Given the description of an element on the screen output the (x, y) to click on. 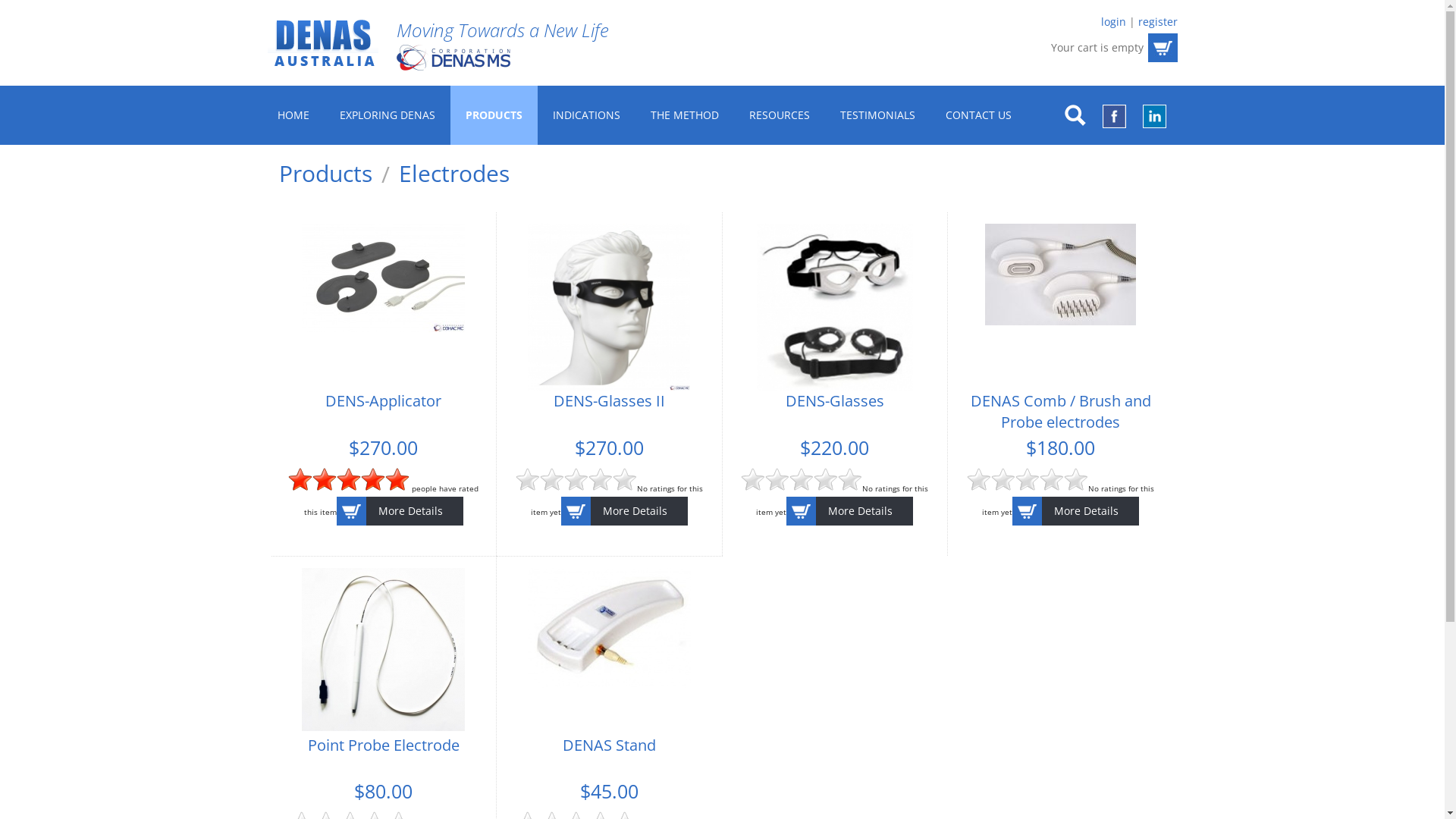
INDICATIONS Element type: text (585, 114)
RESOURCES Element type: text (779, 114)
register Element type: text (1156, 21)
DENS-Glasses Element type: text (834, 398)
DENS-Applicator Element type: text (383, 398)
THE METHOD Element type: text (684, 114)
More Details Element type: text (1075, 510)
DENAS Comb / Brush and Probe electrodes Element type: hover (1060, 274)
DENS-Applicator Element type: hover (382, 277)
HOME Element type: text (293, 114)
PRODUCTS Element type: text (493, 114)
DENAS Comb / Brush and Probe electrodes Element type: text (1060, 409)
DENS-Glasses II Element type: text (609, 398)
EXPLORING DENAS Element type: text (387, 114)
login Element type: text (1113, 21)
More Details Element type: text (624, 510)
Products Element type: text (338, 173)
DENS-Glasses Element type: hover (834, 306)
DENAS Stand Element type: text (608, 743)
Point Probe Electrode Element type: text (383, 743)
DENAS Stand Element type: hover (608, 627)
CONTACT US Element type: text (977, 114)
More Details Element type: text (849, 510)
More Details Element type: text (399, 510)
Electrodes Element type: text (453, 173)
Point Probe Electrode Element type: hover (382, 649)
TESTIMONIALS Element type: text (877, 114)
